Given the description of an element on the screen output the (x, y) to click on. 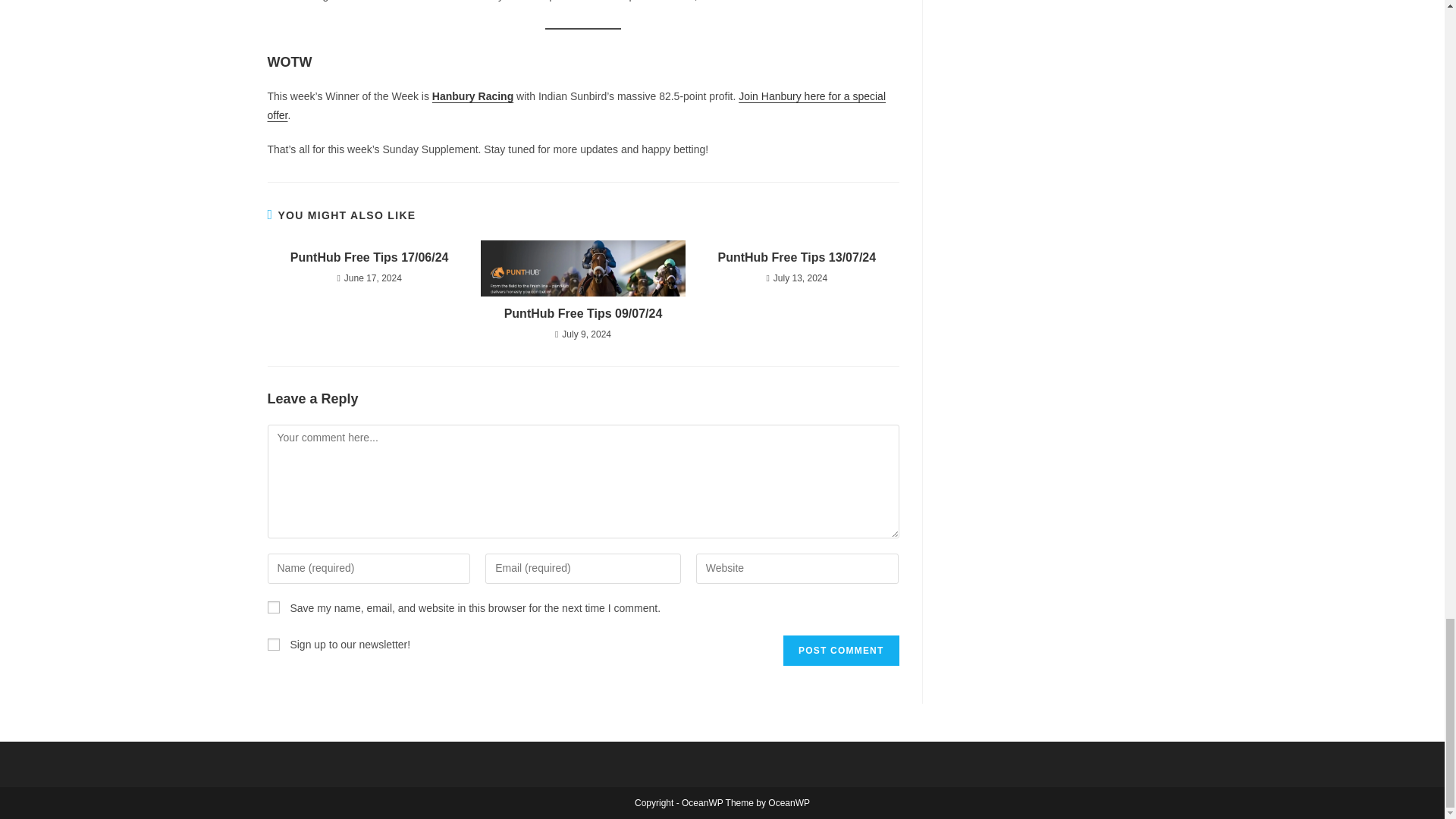
Post Comment (840, 650)
yes (272, 607)
1 (272, 644)
